Given the description of an element on the screen output the (x, y) to click on. 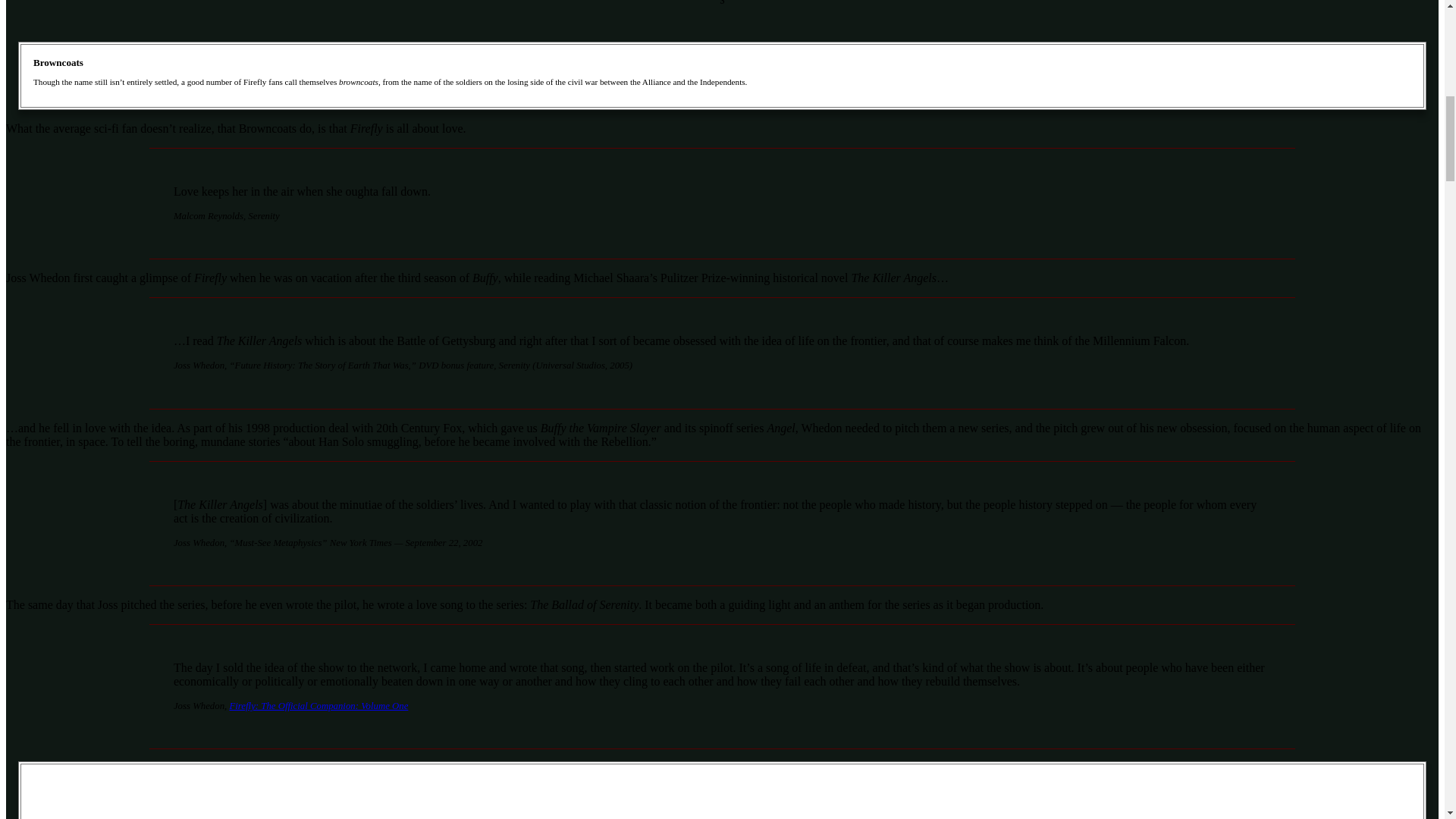
Firefly: The Official Companion: Volume One (317, 706)
YouTube video player (721, 797)
